Given the description of an element on the screen output the (x, y) to click on. 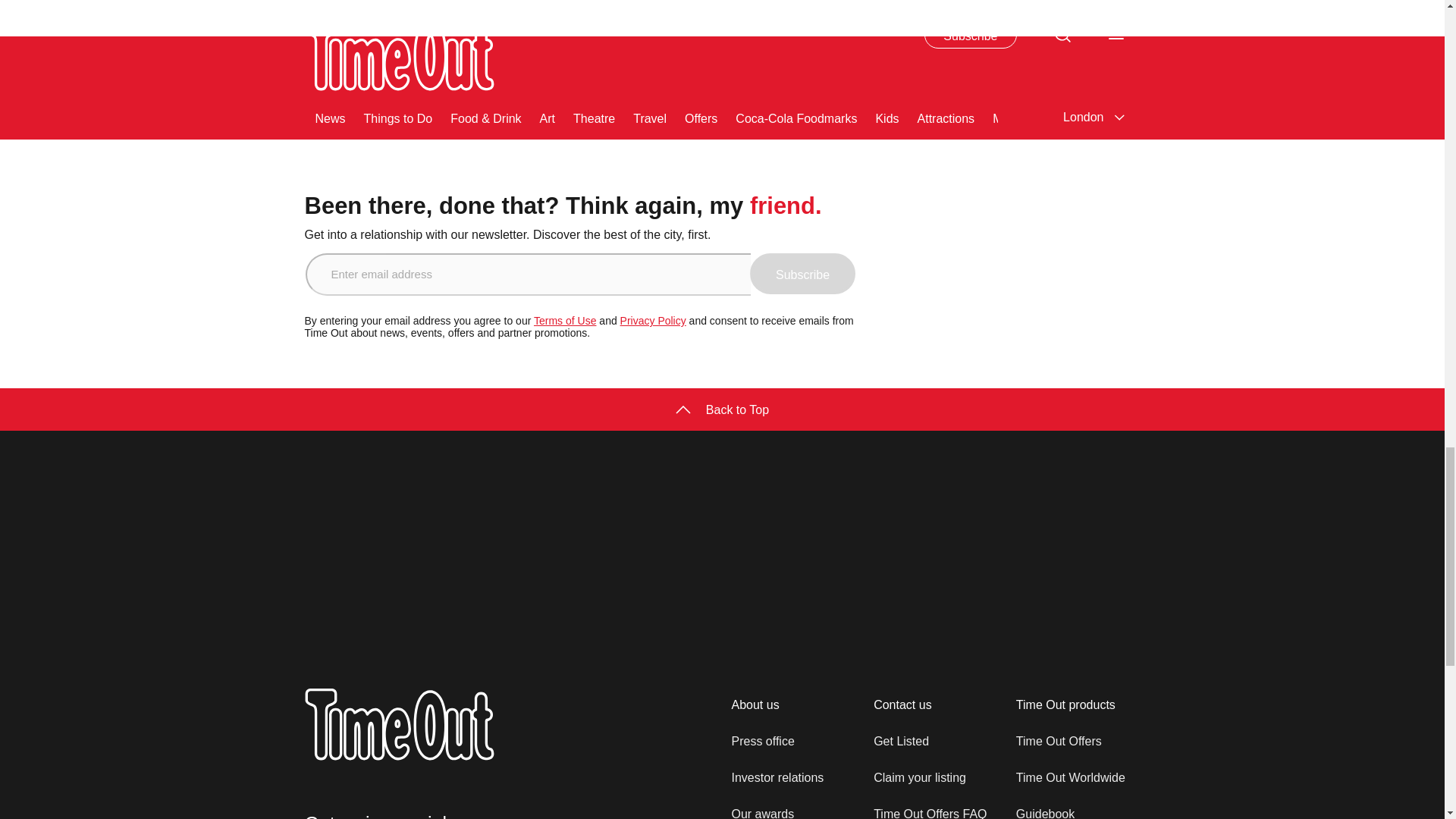
Subscribe (802, 273)
